Given the description of an element on the screen output the (x, y) to click on. 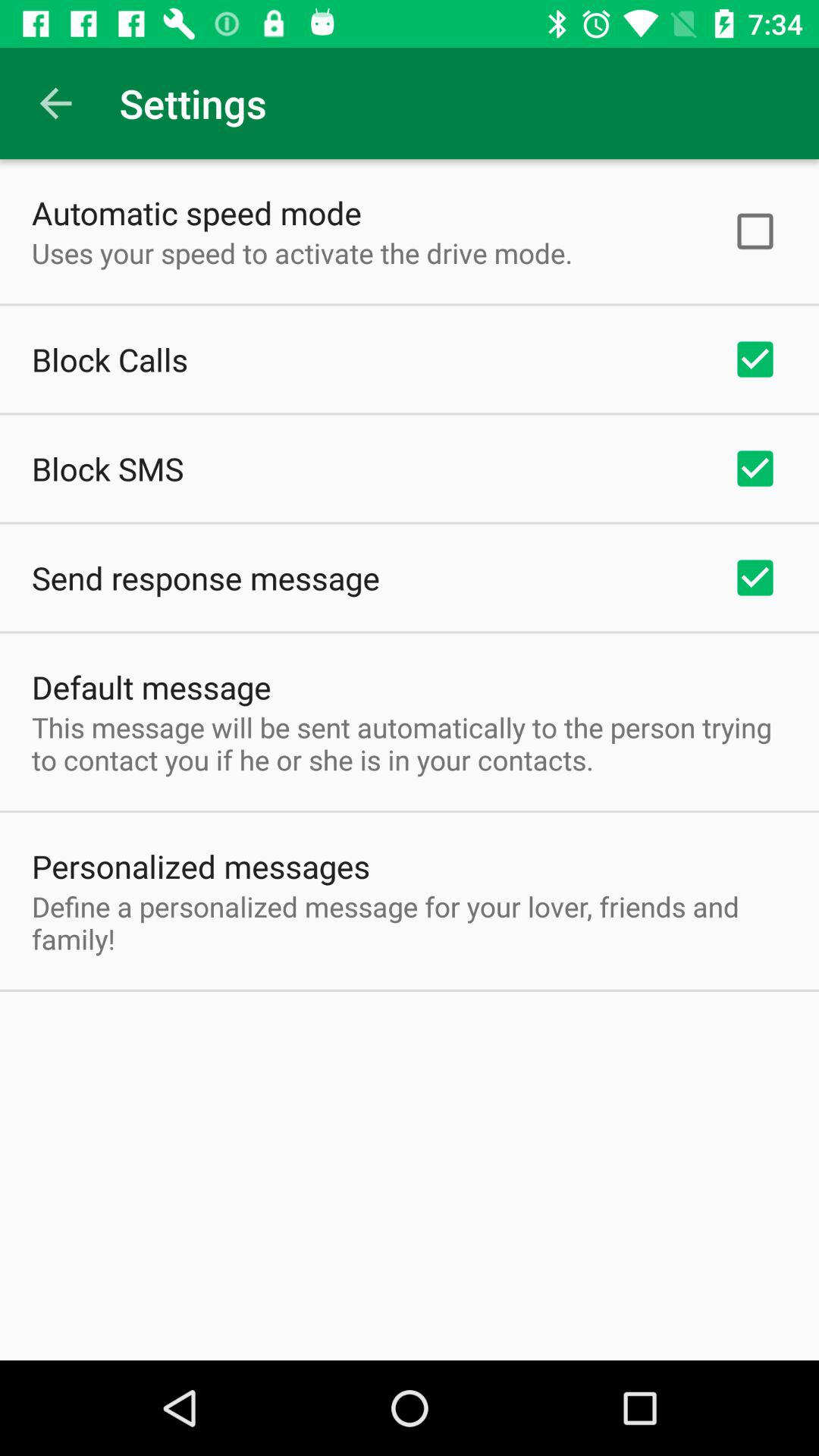
jump to the this message will (409, 743)
